Given the description of an element on the screen output the (x, y) to click on. 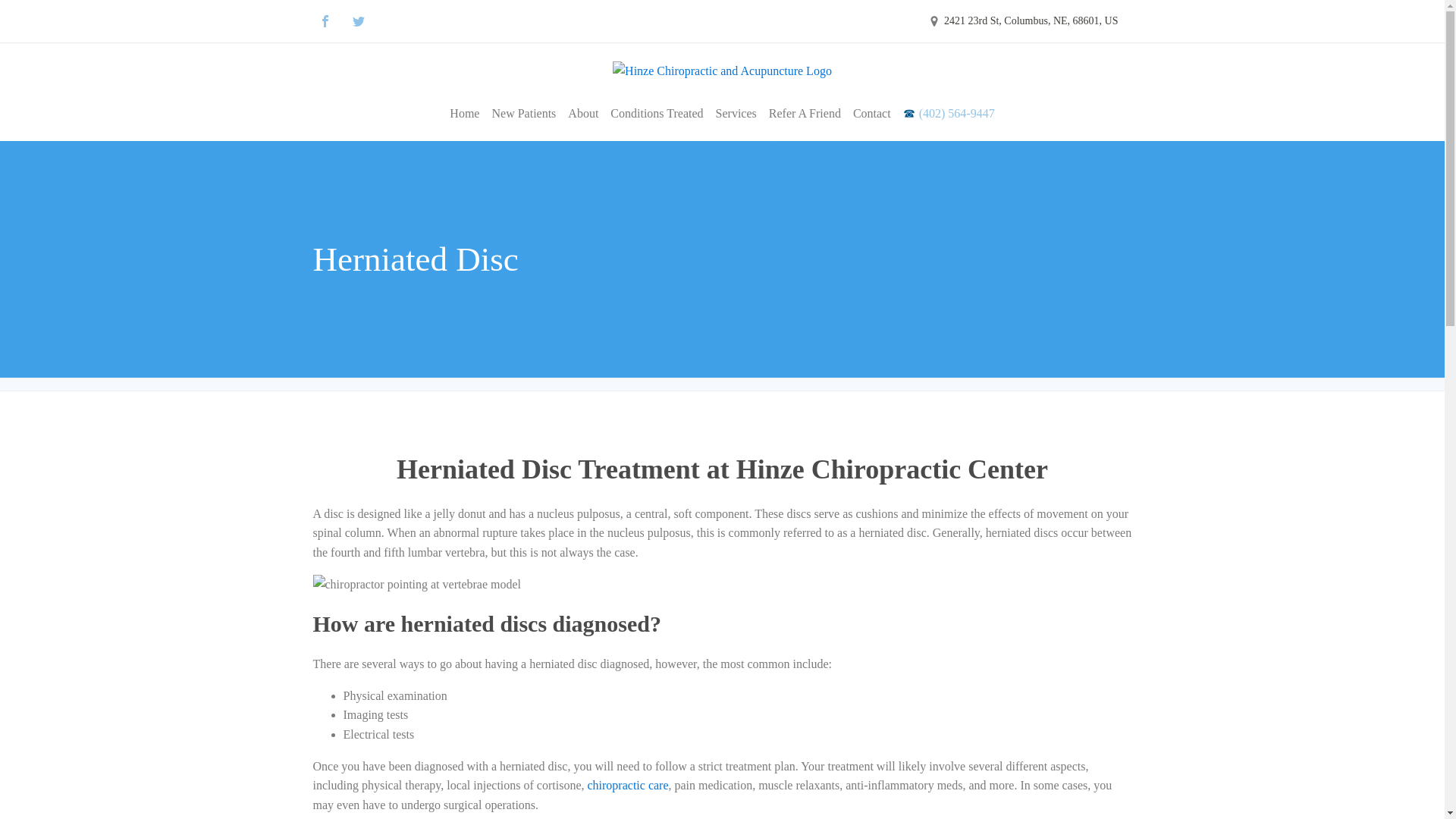
New Patients (523, 113)
Home (464, 113)
Services (736, 113)
Conditions Treated (656, 113)
About (583, 113)
